Given the description of an element on the screen output the (x, y) to click on. 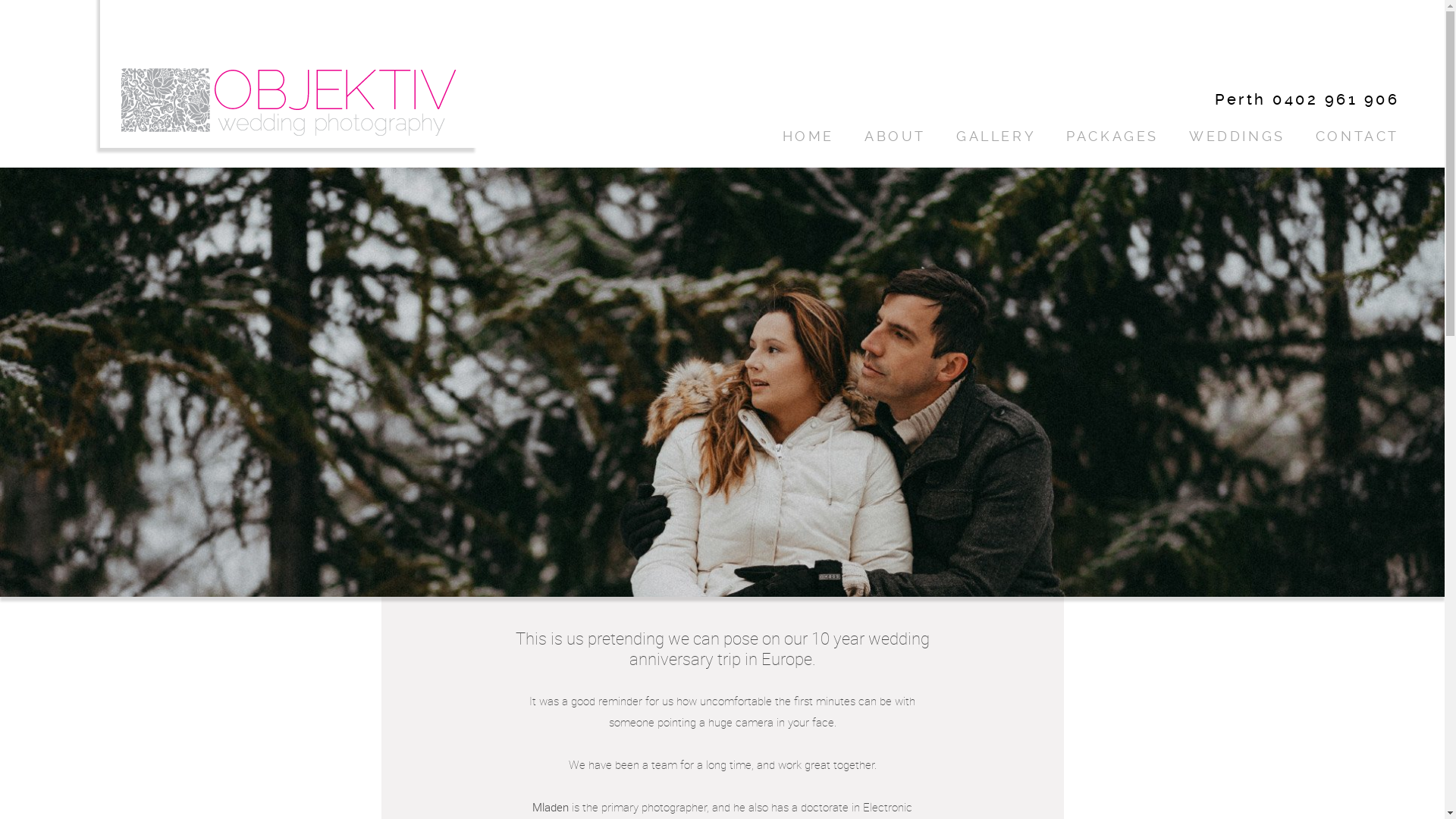
GALLERY Element type: text (995, 136)
WEDDINGS Element type: text (1237, 136)
HOME Element type: text (808, 136)
CONTACT Element type: text (1357, 136)
ABOUT Element type: text (894, 136)
PACKAGES Element type: text (1112, 136)
